Given the description of an element on the screen output the (x, y) to click on. 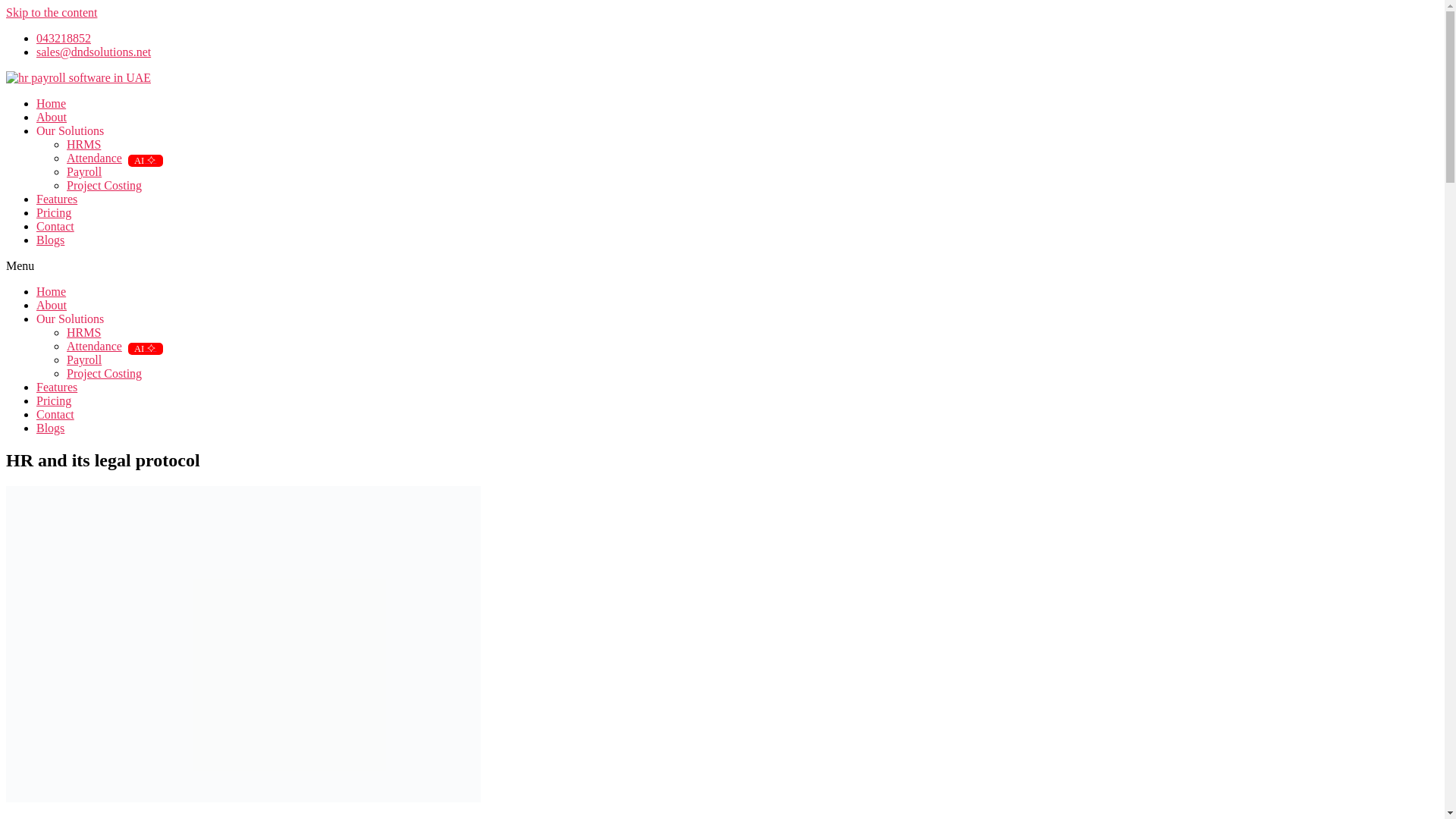
Pricing (53, 212)
Payroll (83, 171)
Project Costing (103, 185)
HRMS (83, 144)
Contact (55, 226)
Home (50, 291)
Pricing (53, 400)
Payroll (83, 359)
Home (50, 103)
